Given the description of an element on the screen output the (x, y) to click on. 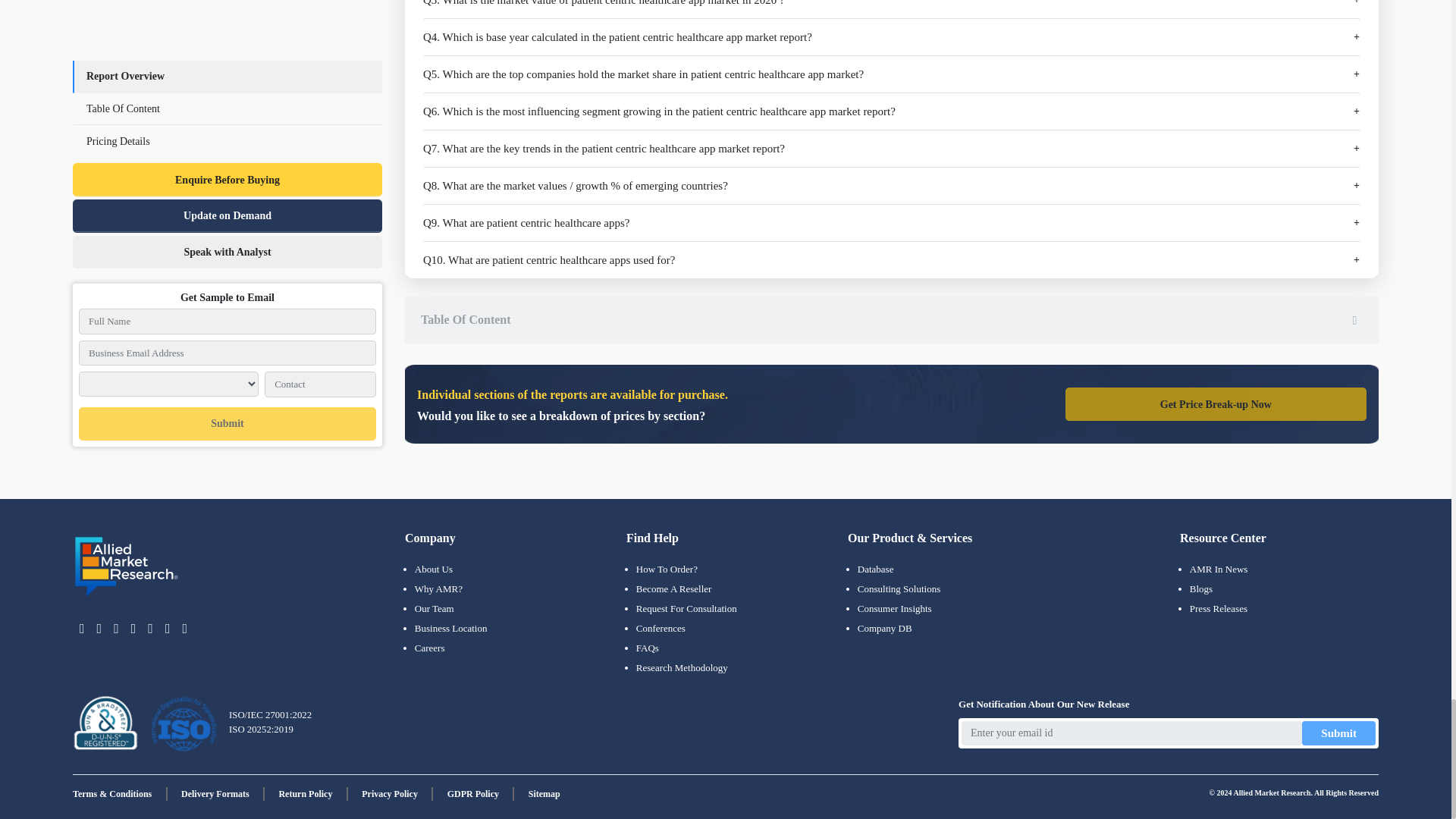
Allied Market Research Footer Logo (126, 566)
